Given the description of an element on the screen output the (x, y) to click on. 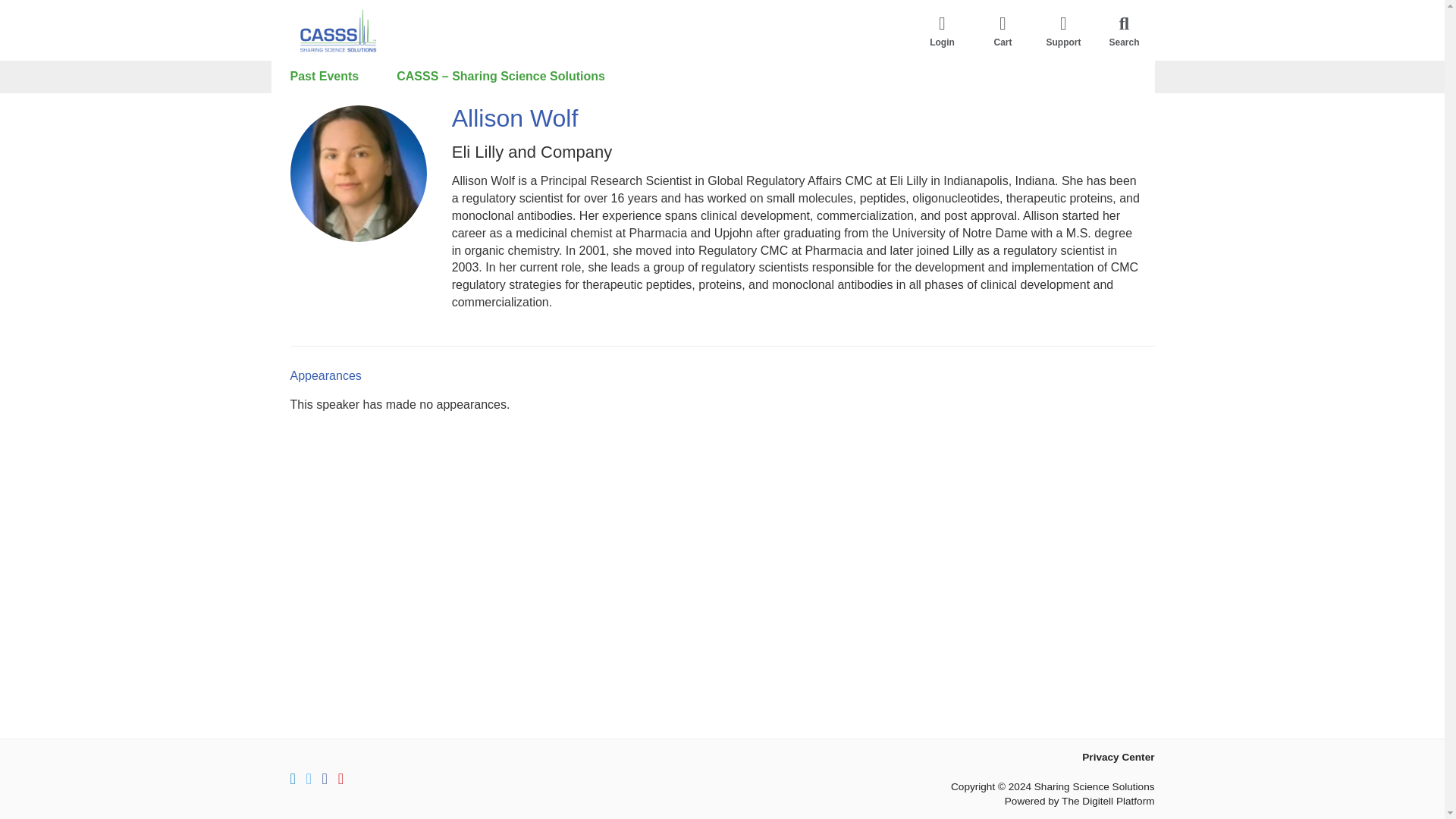
Cart (1002, 30)
Support (1062, 30)
Twitter (308, 778)
Login (941, 30)
Search (1123, 30)
YouTube (340, 778)
LinkedIn (292, 778)
Support (1062, 30)
Cart (1002, 30)
Privacy Center (1117, 756)
Facebook (324, 778)
Past Events (324, 76)
Login (941, 30)
Search (1123, 30)
